Given the description of an element on the screen output the (x, y) to click on. 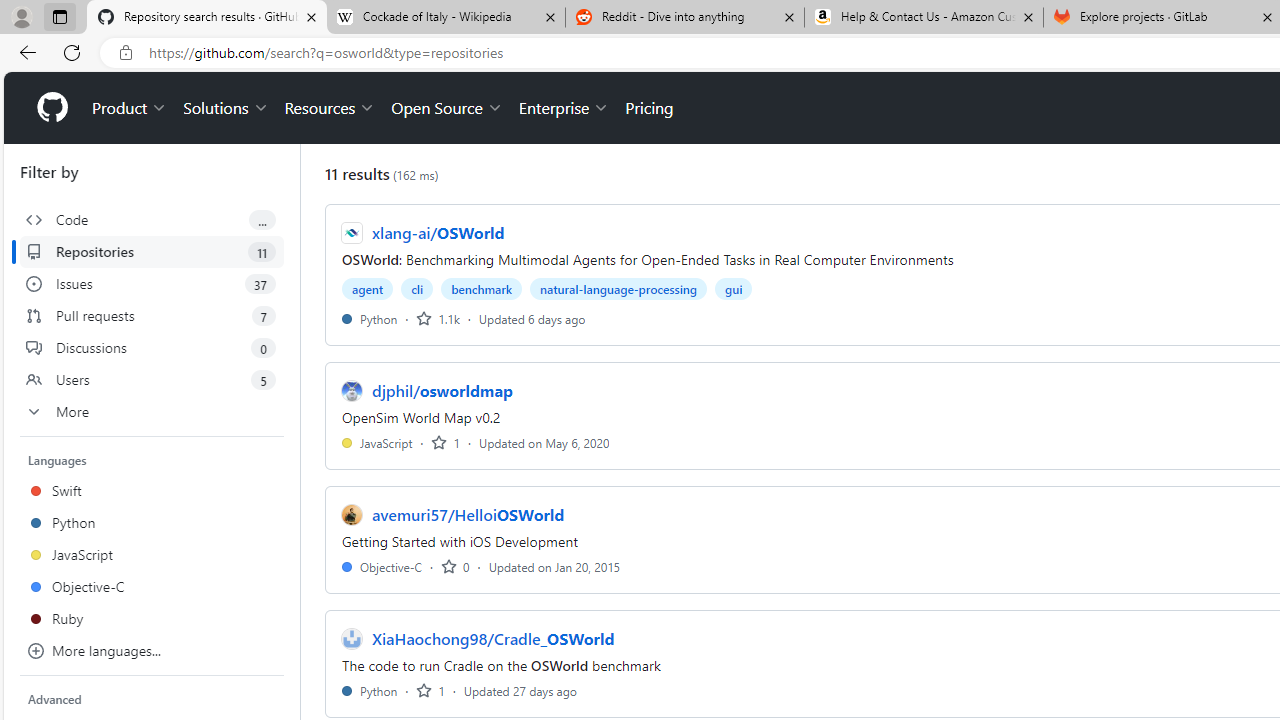
avemuri57/HelloiOSWorld (468, 515)
Product (130, 107)
More languages... (152, 650)
More languages... (152, 650)
Open Source (446, 107)
Solutions (225, 107)
Open Source (446, 107)
0 stars (455, 566)
1 (430, 690)
